Given the description of an element on the screen output the (x, y) to click on. 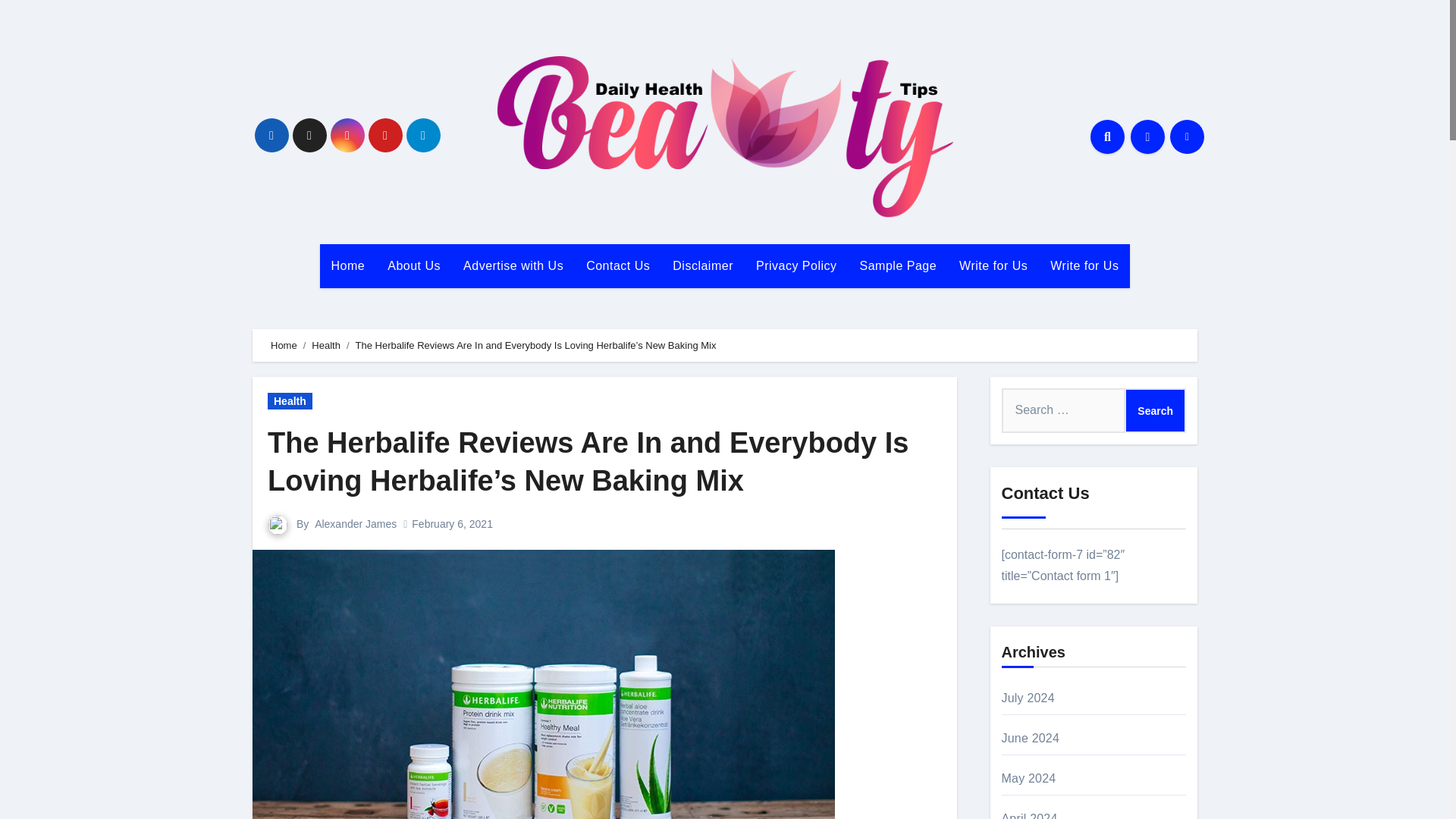
Health (325, 345)
Home (283, 345)
Health (290, 401)
Advertise with Us (513, 266)
Privacy Policy (796, 266)
Write for Us (1084, 266)
Write for Us (993, 266)
Search (1155, 410)
Contact Us (618, 266)
Search (1155, 410)
Home (348, 266)
Home (348, 266)
Sample Page (898, 266)
Disclaimer (702, 266)
February 6, 2021 (452, 523)
